Given the description of an element on the screen output the (x, y) to click on. 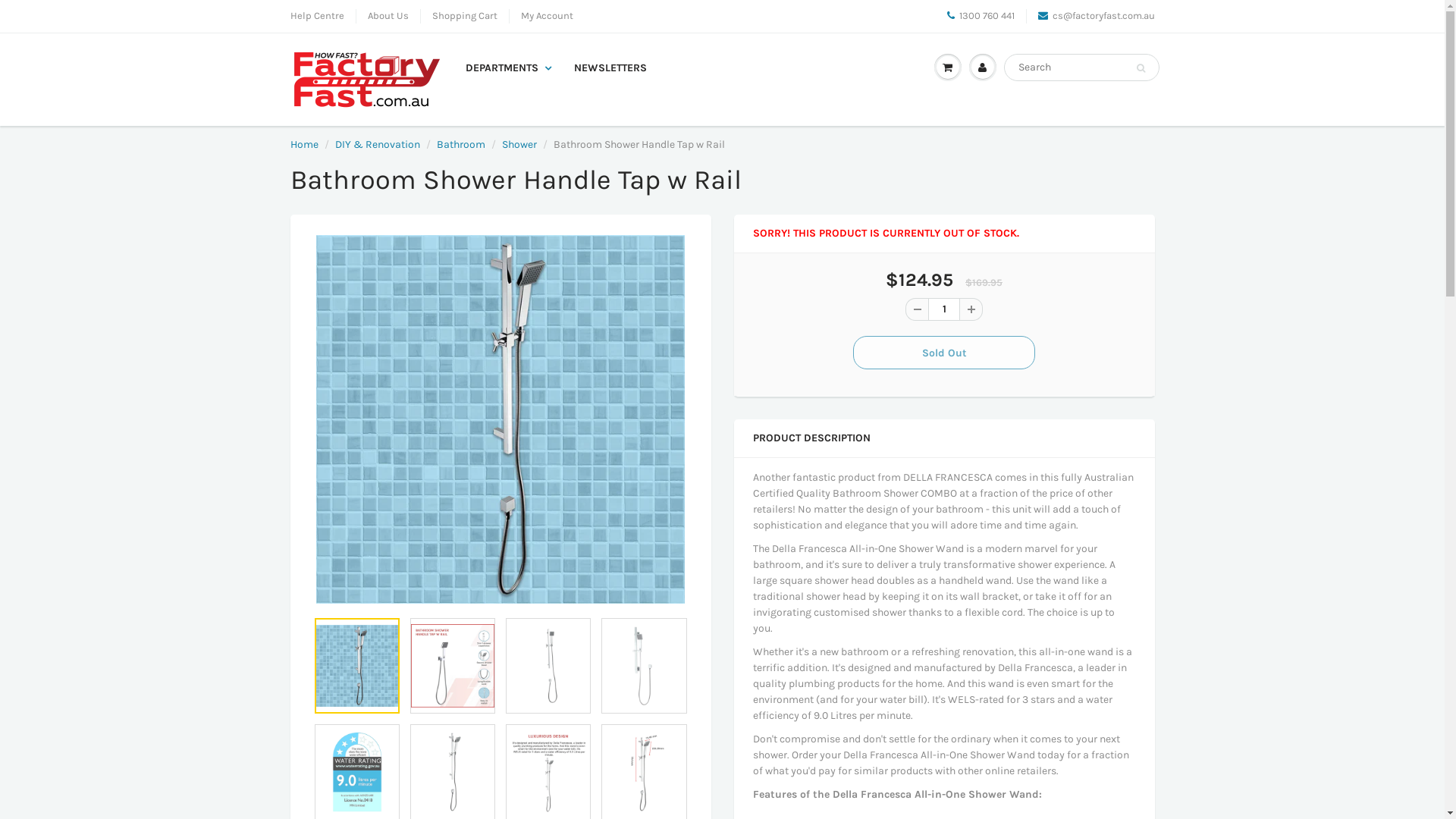
DIY & Renovation Element type: text (377, 144)
Home Element type: text (303, 144)
Bathroom Element type: text (460, 144)
Help Centre Element type: text (316, 16)
About Us Element type: text (387, 16)
Search Element type: text (1140, 68)
Shower Element type: text (519, 144)
cs@factoryfast.com.au Element type: text (1095, 16)
1300 760 441 Element type: text (979, 16)
NEWSLETTERS Element type: text (610, 68)
Shopping Cart Element type: text (464, 16)
Sold Out Element type: text (944, 352)
 Bathroom Shower Handle Tap w Rail  Element type: hover (500, 418)
My Account Element type: text (546, 16)
DEPARTMENTS Element type: text (507, 68)
